Given the description of an element on the screen output the (x, y) to click on. 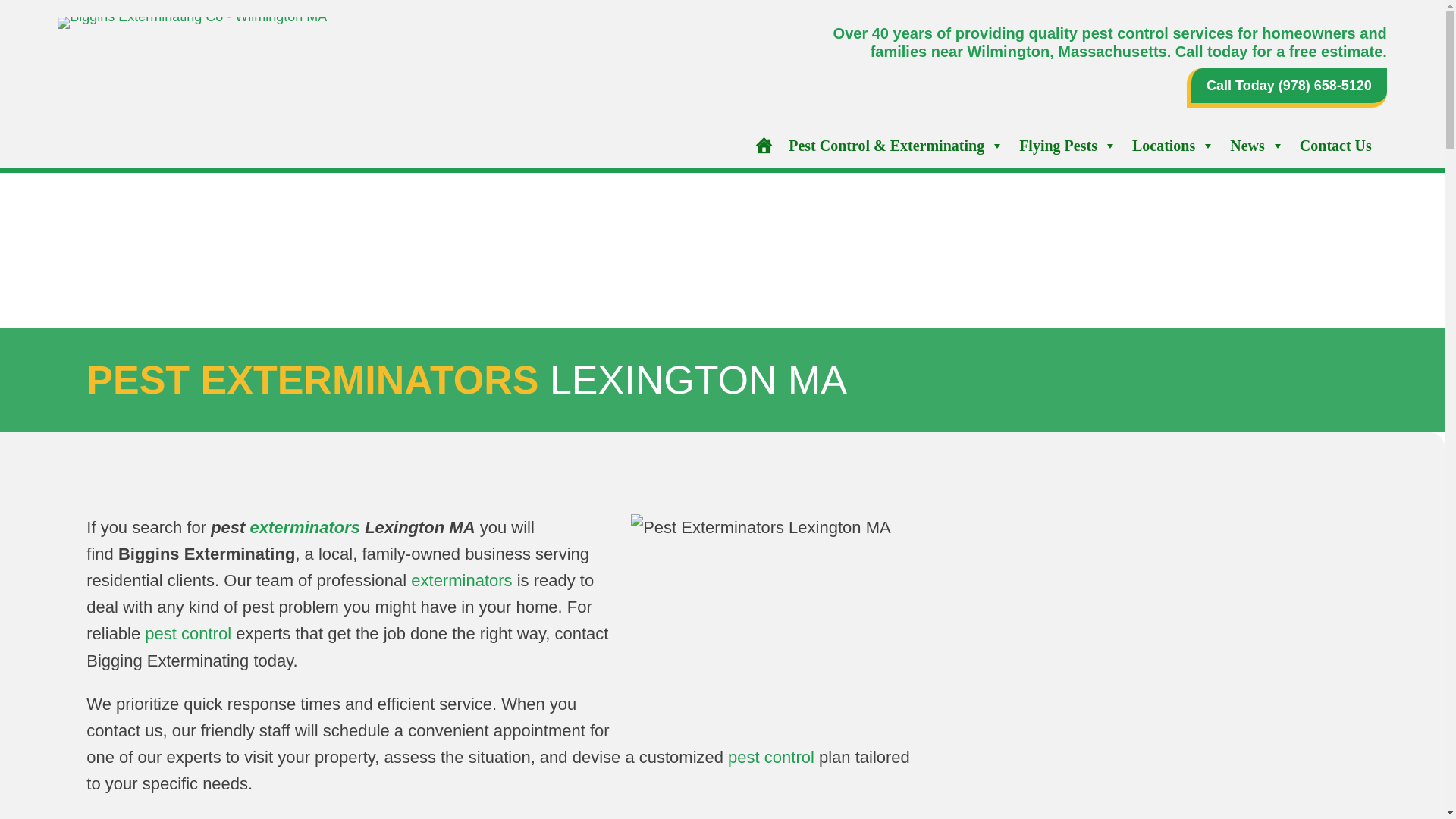
Exterminators (305, 527)
Locations (1173, 145)
Exterminators (461, 579)
Contact Us (1335, 145)
Flying Pests (1067, 145)
exterminators (305, 527)
pest control (770, 756)
pest control (187, 633)
exterminators (461, 579)
News (1257, 145)
Pest Control Service (770, 756)
Pest Control Service (187, 633)
